Given the description of an element on the screen output the (x, y) to click on. 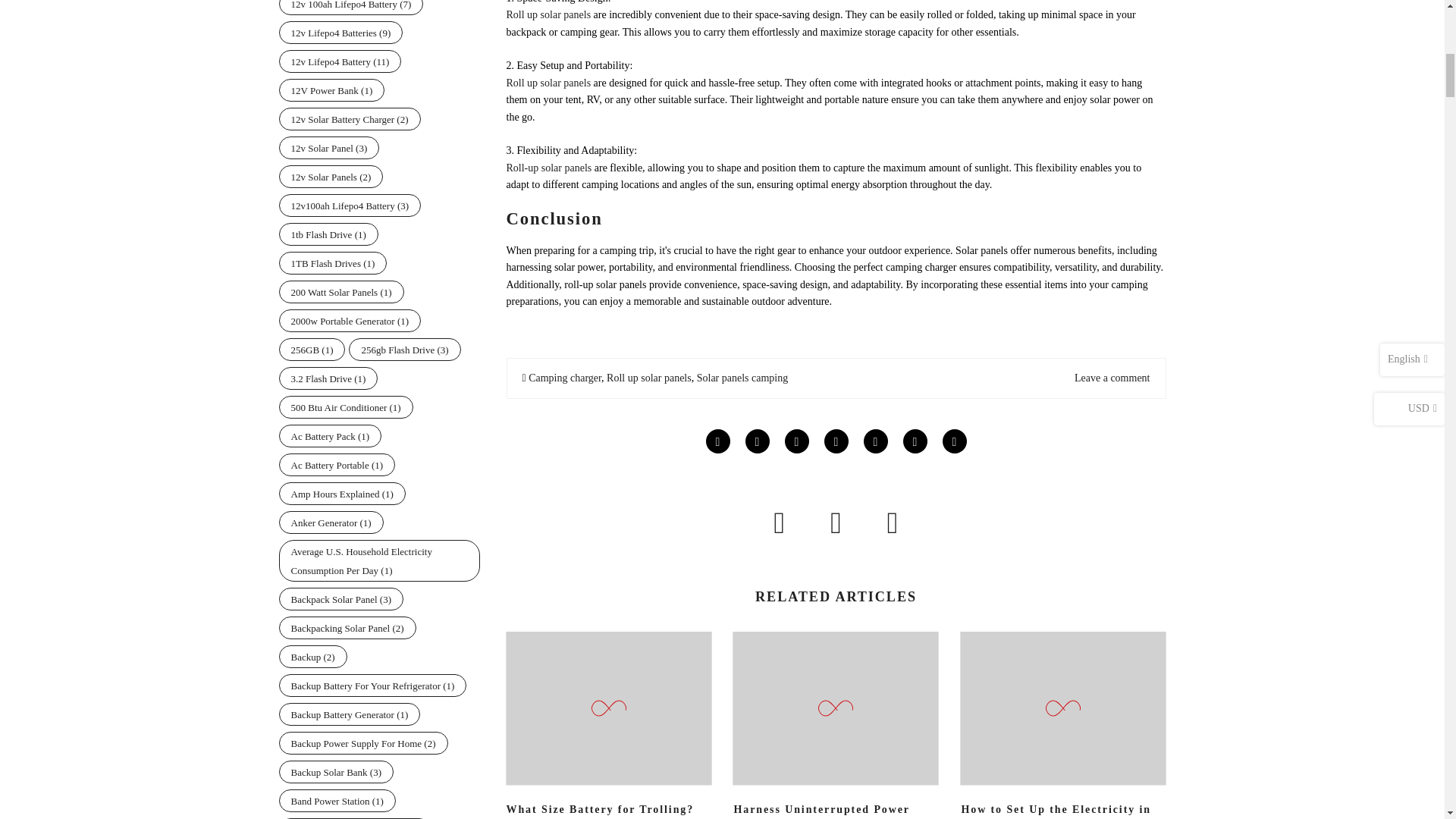
roll up solar panels (548, 82)
roll up solar panels (550, 14)
roll up solar panels (549, 167)
